Given the description of an element on the screen output the (x, y) to click on. 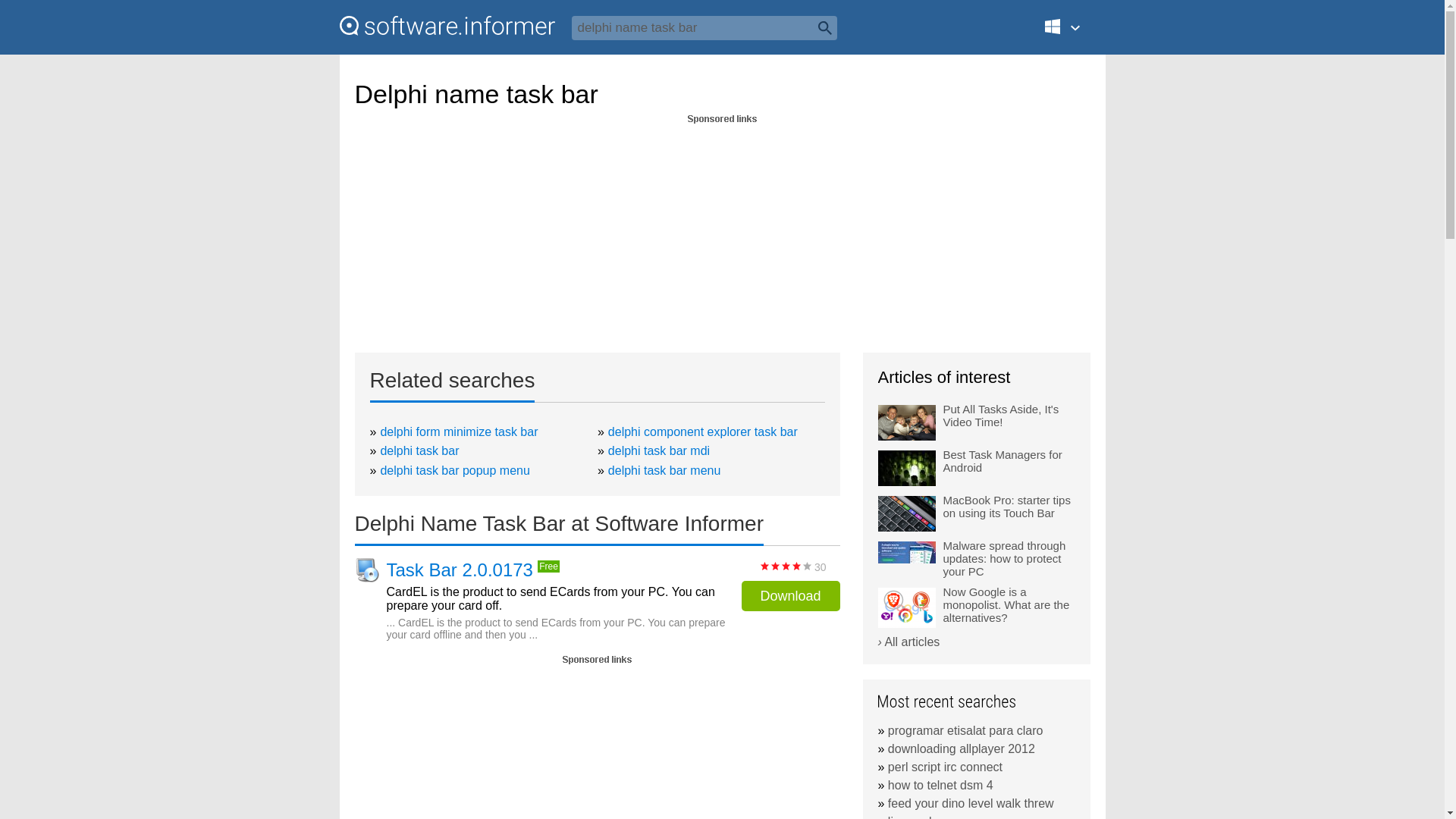
30 votes (785, 565)
delphi name task bar (704, 27)
Download (790, 595)
delphi task bar menu (664, 470)
Task Bar 2.0.0173 (459, 569)
Software downloads and reviews (446, 25)
delphi task bar (419, 450)
Task Bar 2.0.0173 (459, 569)
